Given the description of an element on the screen output the (x, y) to click on. 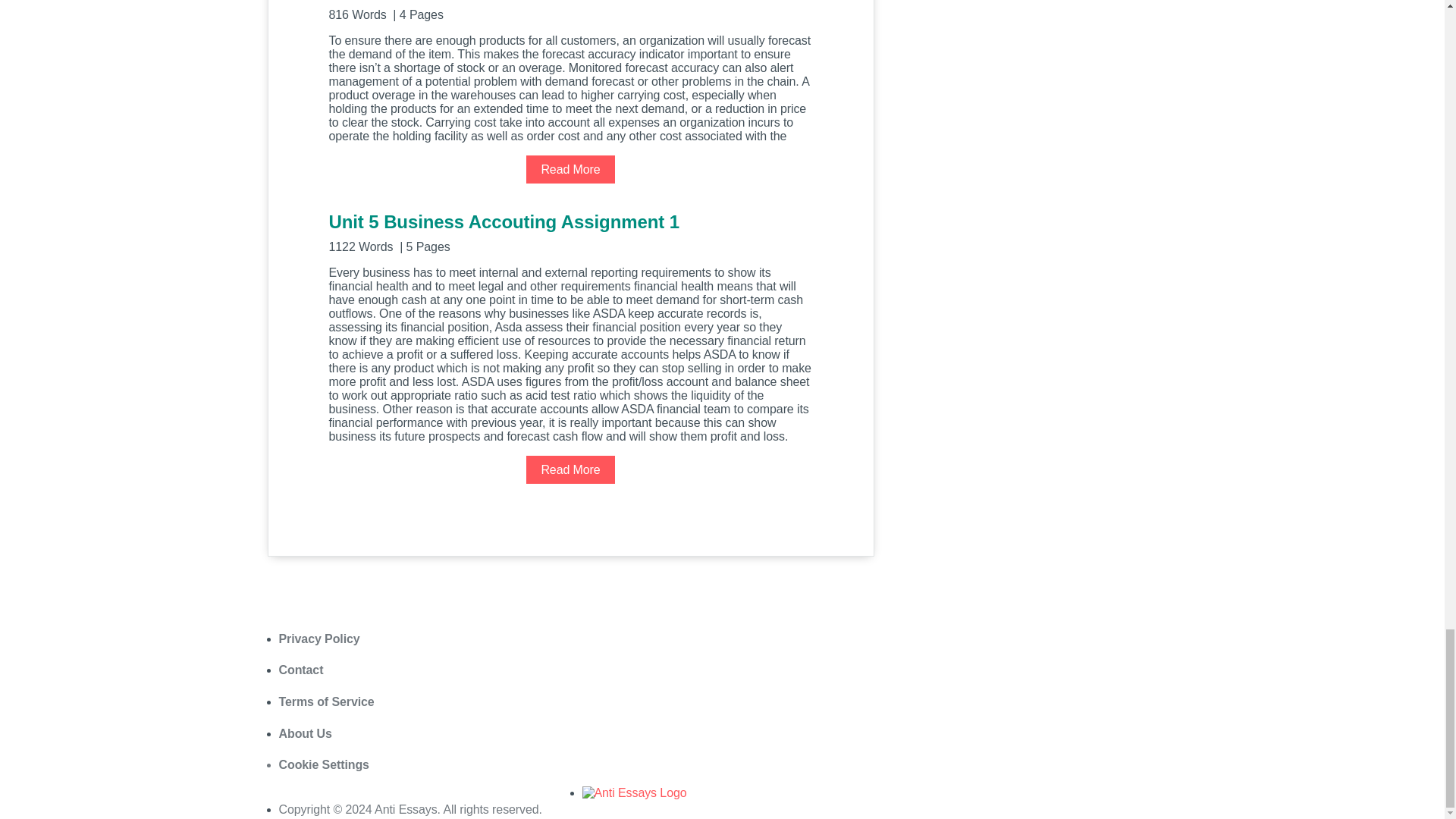
Contact (301, 669)
Terms of Service (326, 701)
Privacy Policy (319, 638)
Unit 5 Business Accouting Assignment 1 (570, 231)
Iscom 370 Supply Chain Kpi (570, 10)
Read More (569, 469)
Read More (569, 169)
